Given the description of an element on the screen output the (x, y) to click on. 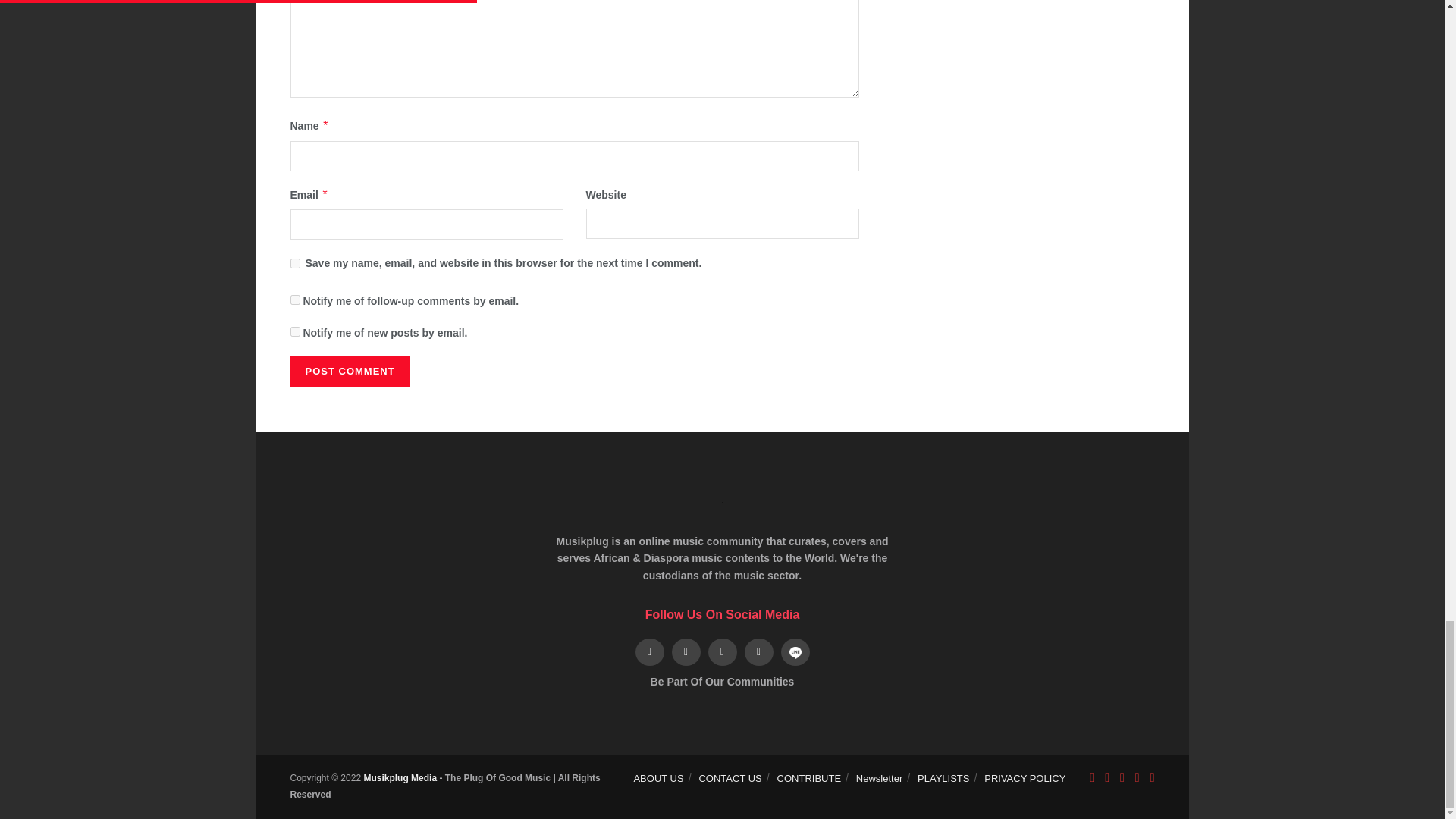
yes (294, 263)
subscribe (294, 331)
subscribe (294, 299)
Post Comment (349, 371)
